Given the description of an element on the screen output the (x, y) to click on. 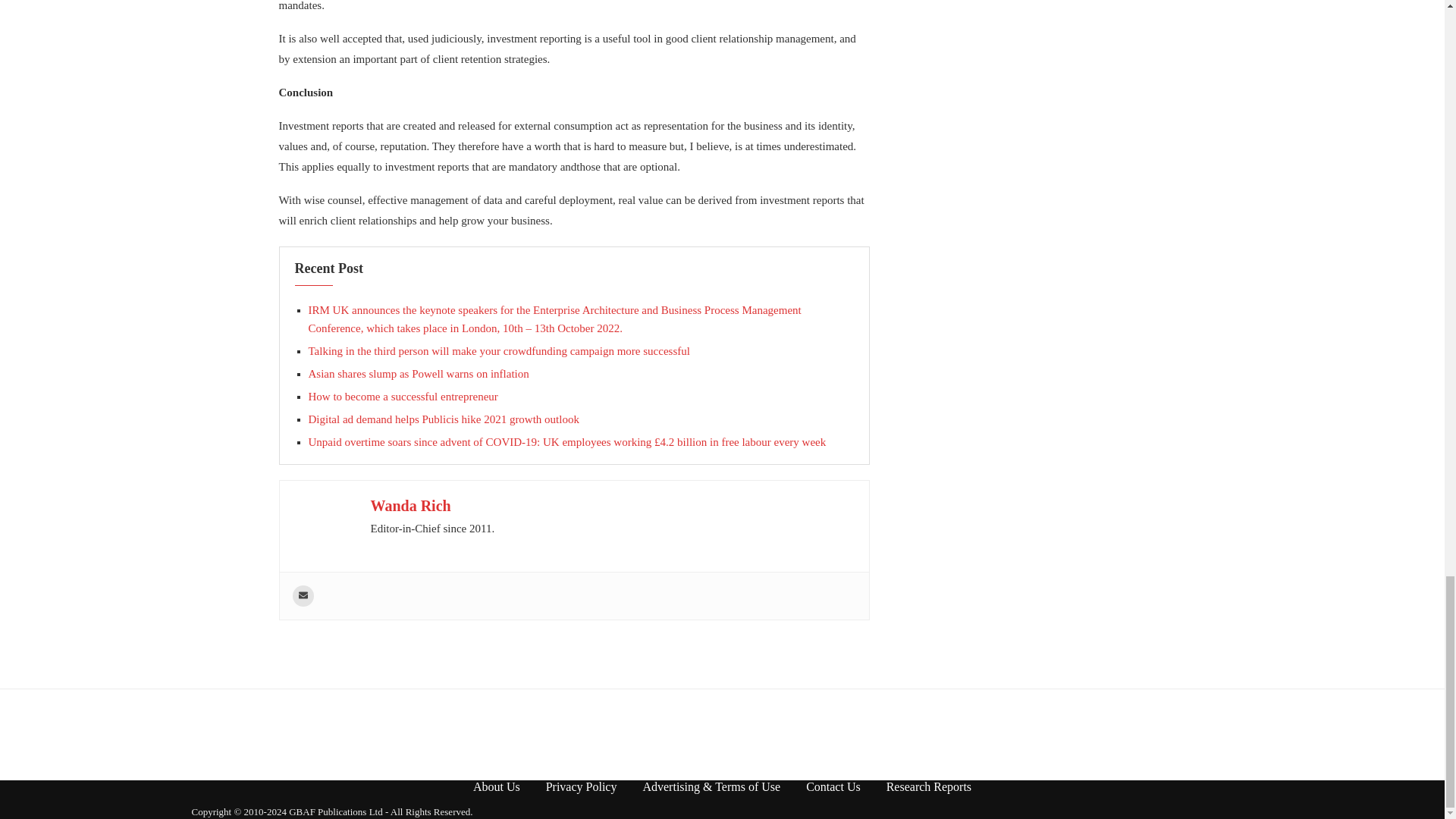
User email (303, 595)
